Given the description of an element on the screen output the (x, y) to click on. 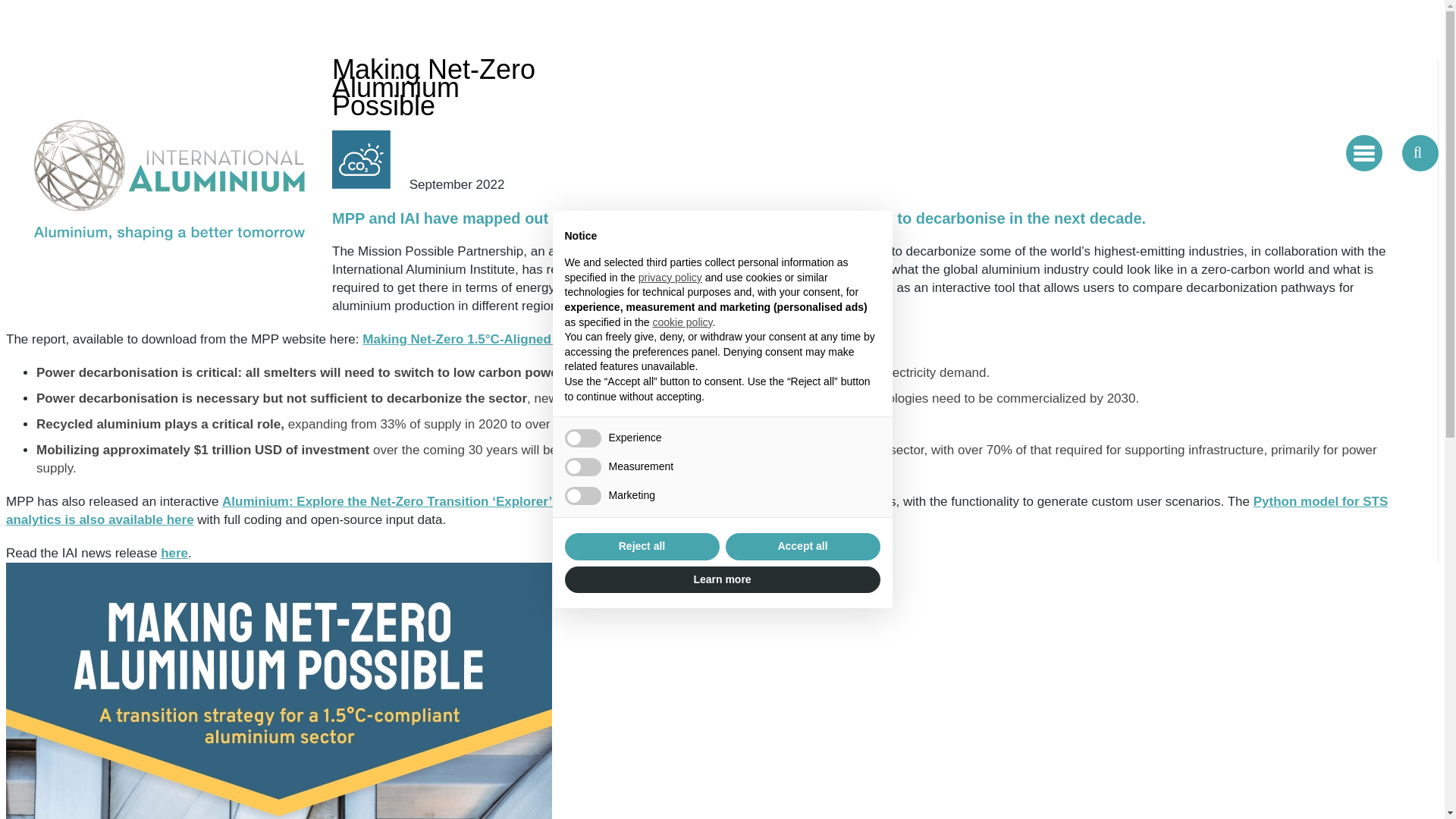
false (581, 495)
false (581, 438)
false (581, 466)
Python model for STS analytics is also available here (696, 510)
here (173, 553)
